Given the description of an element on the screen output the (x, y) to click on. 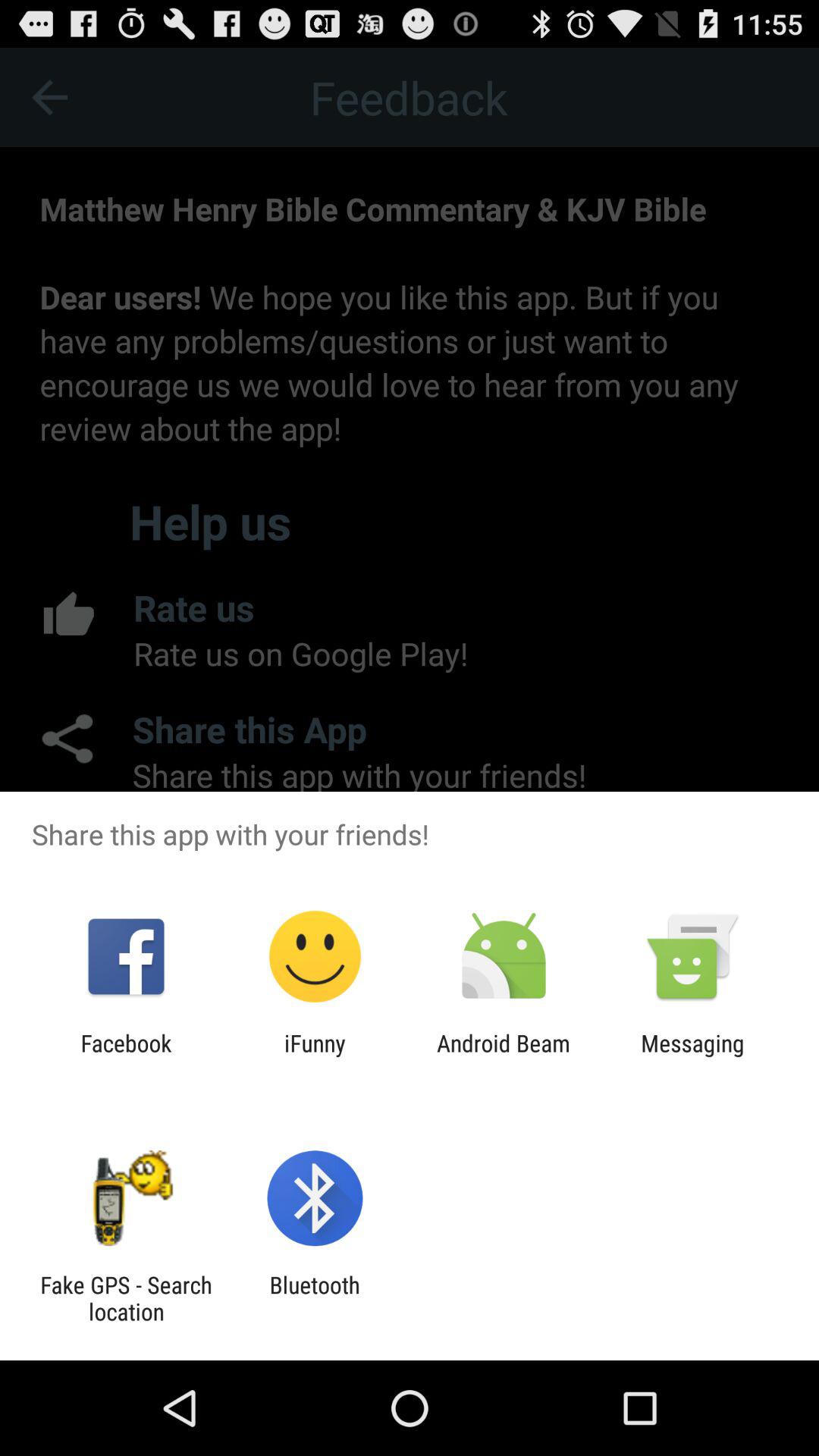
launch the item to the right of facebook item (314, 1056)
